Given the description of an element on the screen output the (x, y) to click on. 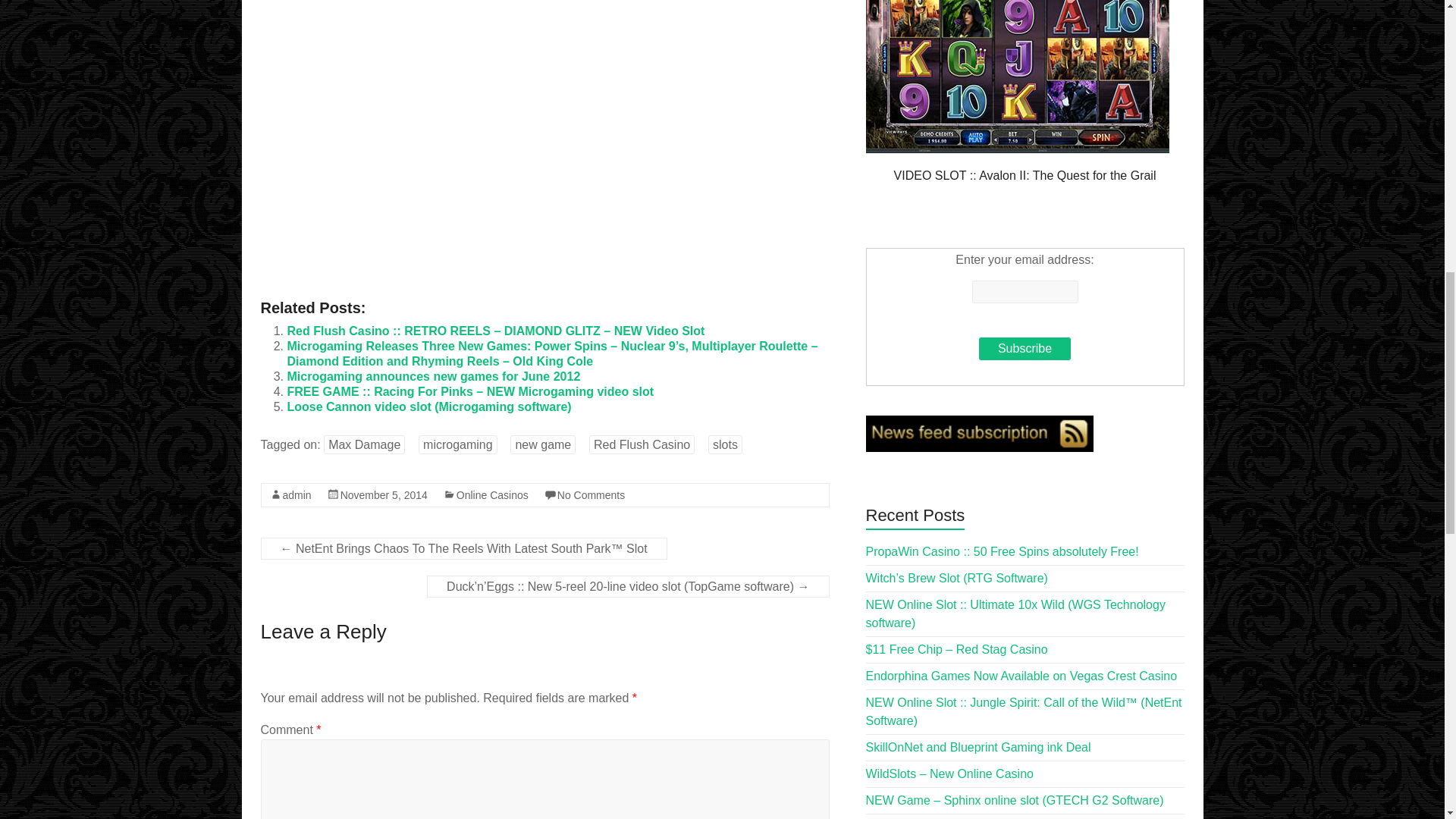
Subscribe (1024, 348)
slots (724, 444)
Online Casinos (492, 494)
microgaming (458, 444)
admin (296, 494)
new game (543, 444)
Max Damage (363, 444)
1:36 pm (384, 494)
Microgaming announces new games for June 2012 (432, 376)
Subscribe (1024, 348)
Microgaming announces new games for June 2012 (432, 376)
PropaWin Casino :: 50 Free Spins absolutely Free! (1002, 551)
No Comments (590, 494)
Red Flush Casino (641, 444)
November 5, 2014 (384, 494)
